Given the description of an element on the screen output the (x, y) to click on. 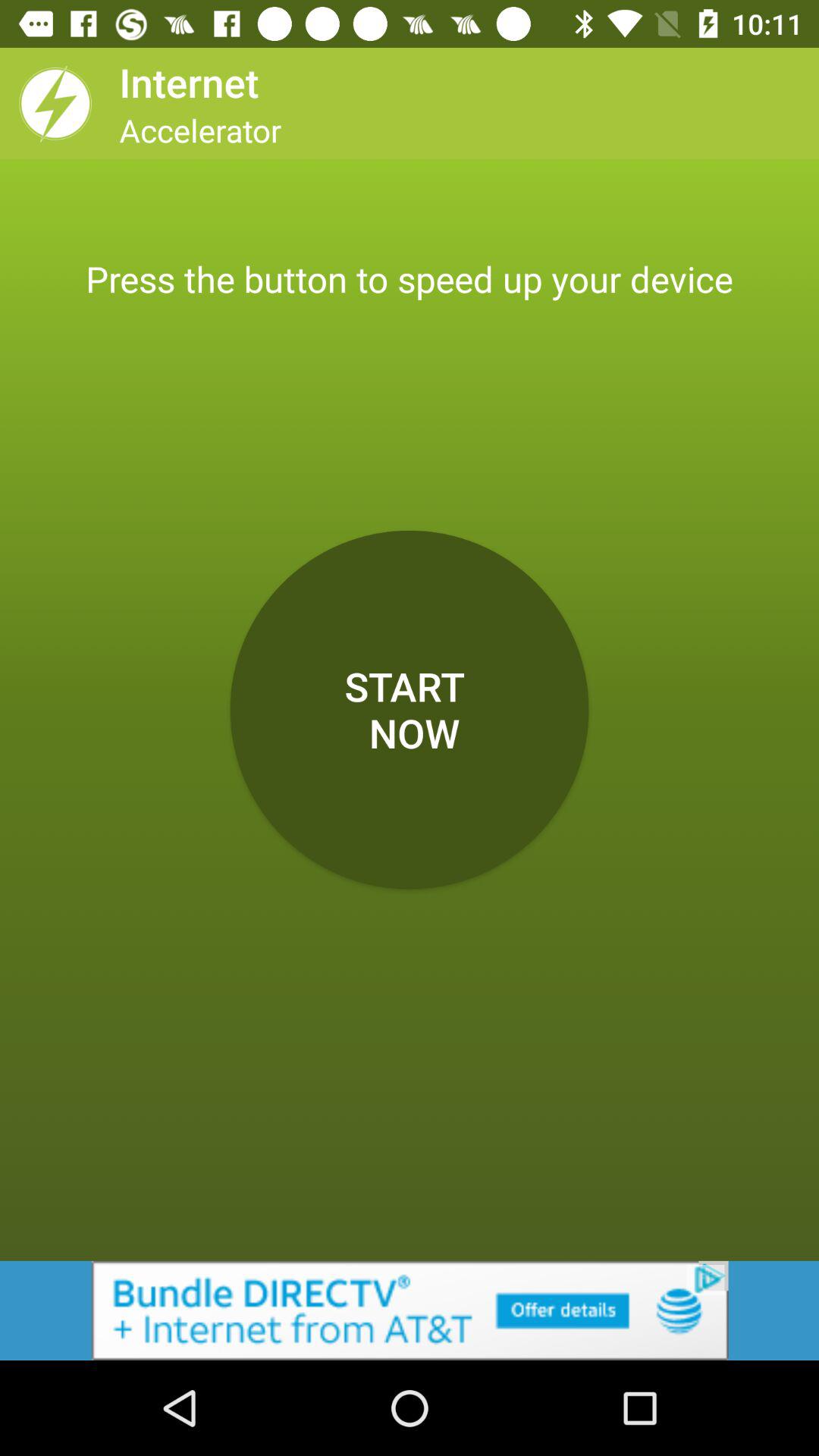
advertisement image (409, 1310)
